Given the description of an element on the screen output the (x, y) to click on. 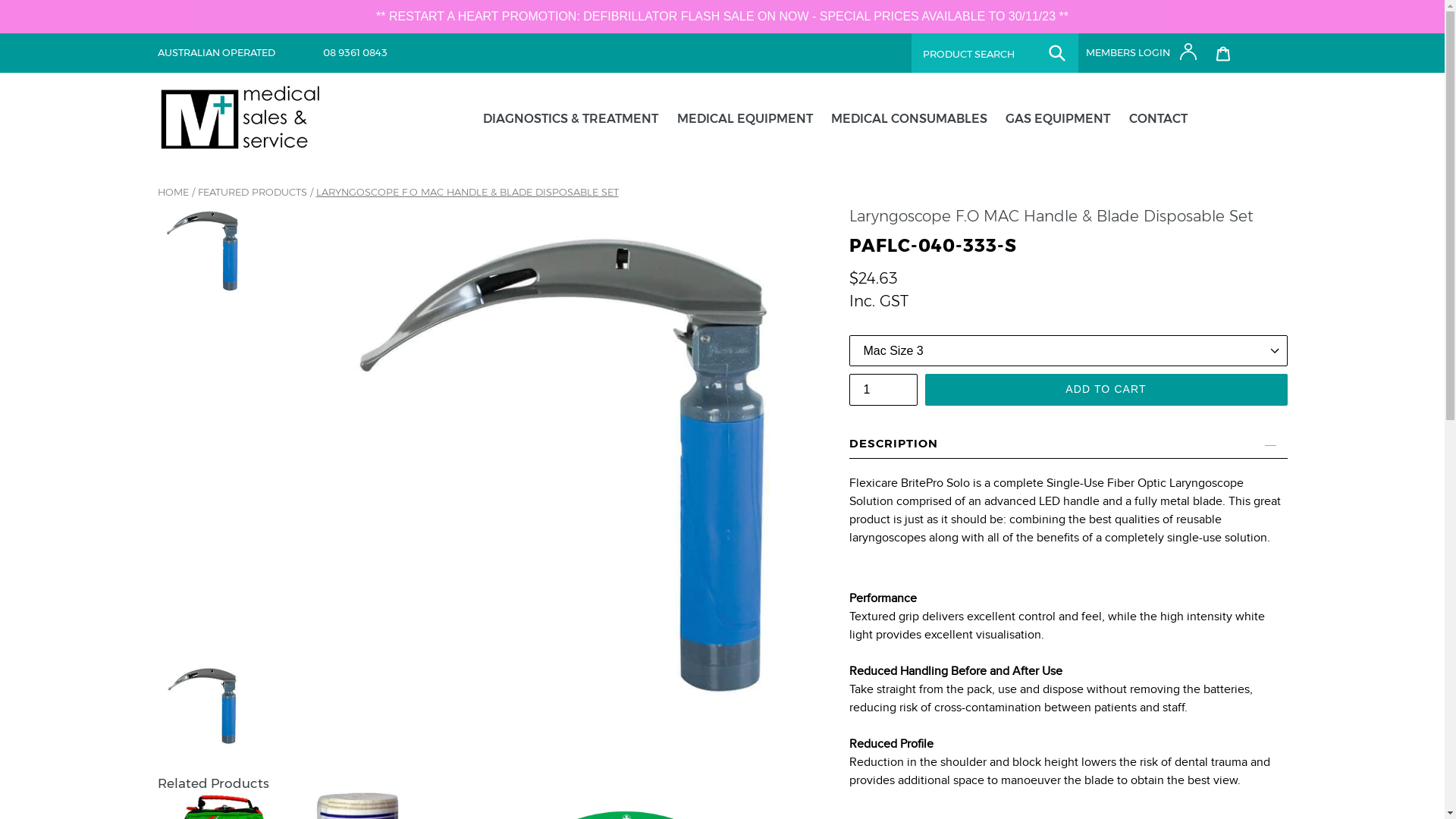
HOME Element type: text (172, 191)
CART
CART Element type: text (1233, 52)
08 9361 0843 Element type: text (348, 52)
MEDICAL EQUIPMENT
expand Element type: text (744, 119)
FEATURED PRODUCTS Element type: text (251, 191)
DIAGNOSTICS & TREATMENT
expand Element type: text (570, 119)
ADD TO CART Element type: text (1106, 389)
MEMBERS LOGIN
LOG IN Element type: text (1138, 52)
MEDICAL CONSUMABLES
expand Element type: text (908, 119)
CONTACT Element type: text (1158, 119)
GAS EQUIPMENT
expand Element type: text (1057, 119)
